Given the description of an element on the screen output the (x, y) to click on. 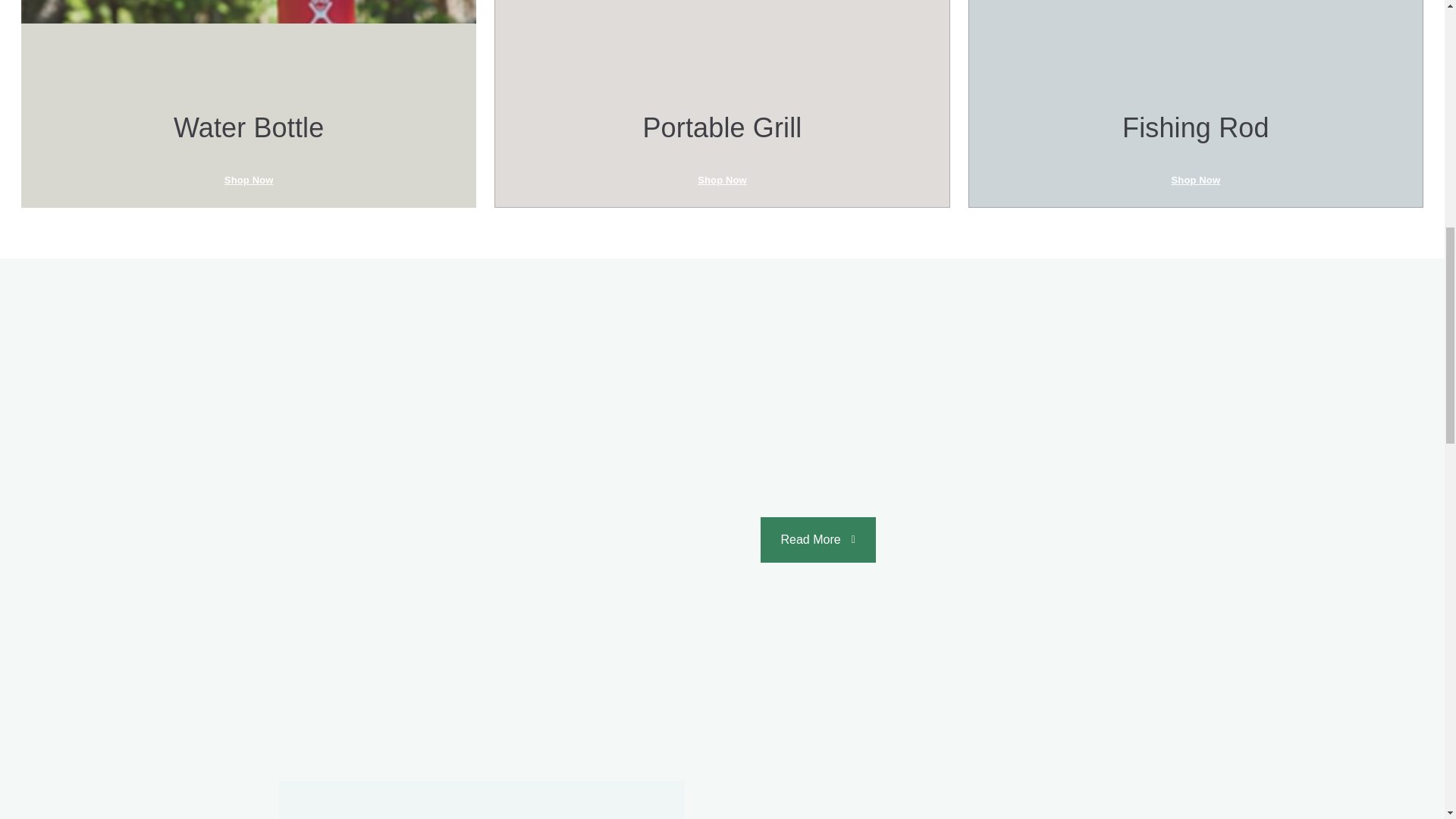
Read More (817, 539)
Shop Now (248, 180)
Shop Now (1195, 180)
Shop Now (721, 180)
